Given the description of an element on the screen output the (x, y) to click on. 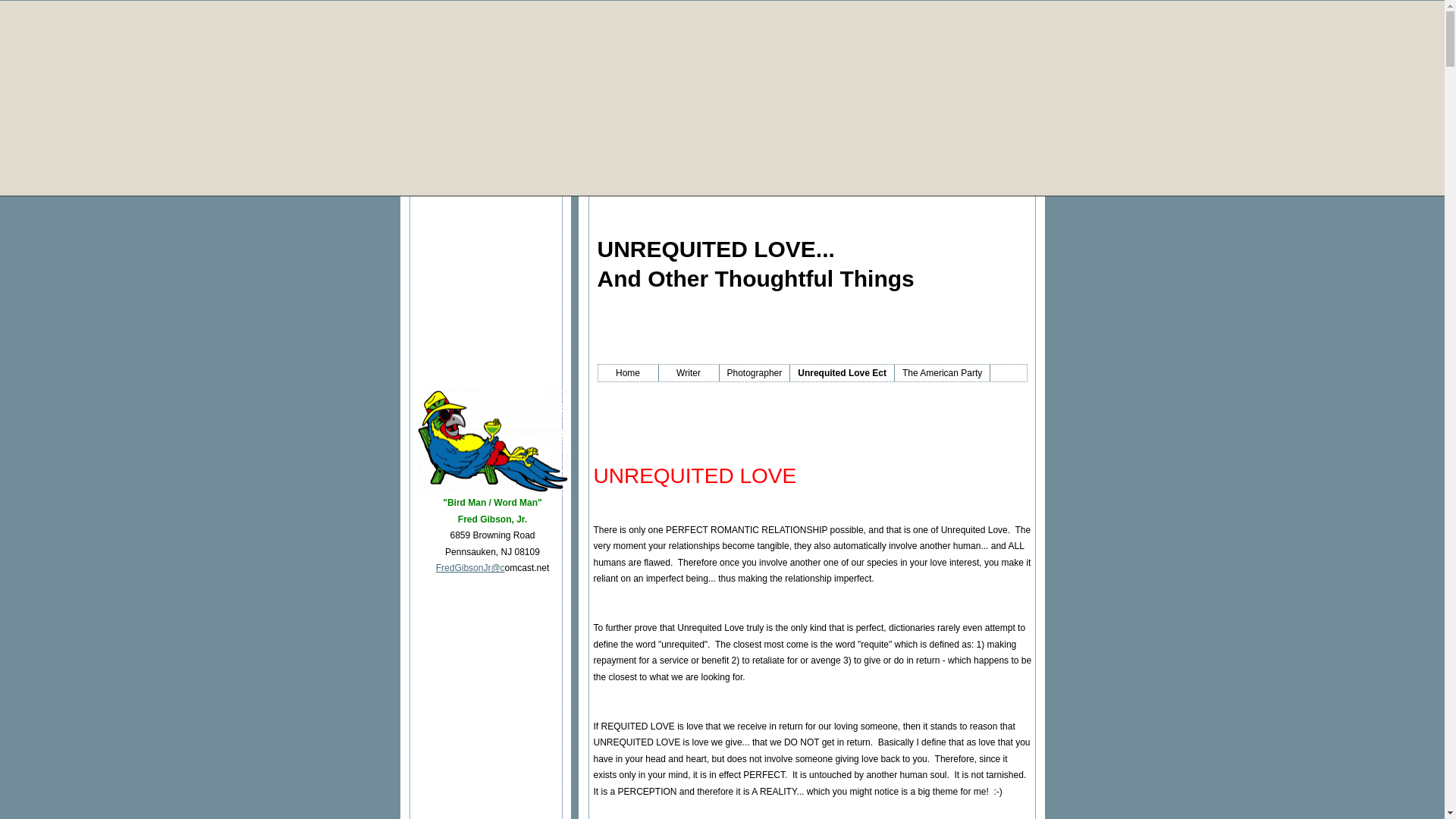
The American Party (942, 372)
Home (627, 372)
Unrequited Love Ect (842, 372)
Writer (688, 372)
Photographer (754, 372)
